Given the description of an element on the screen output the (x, y) to click on. 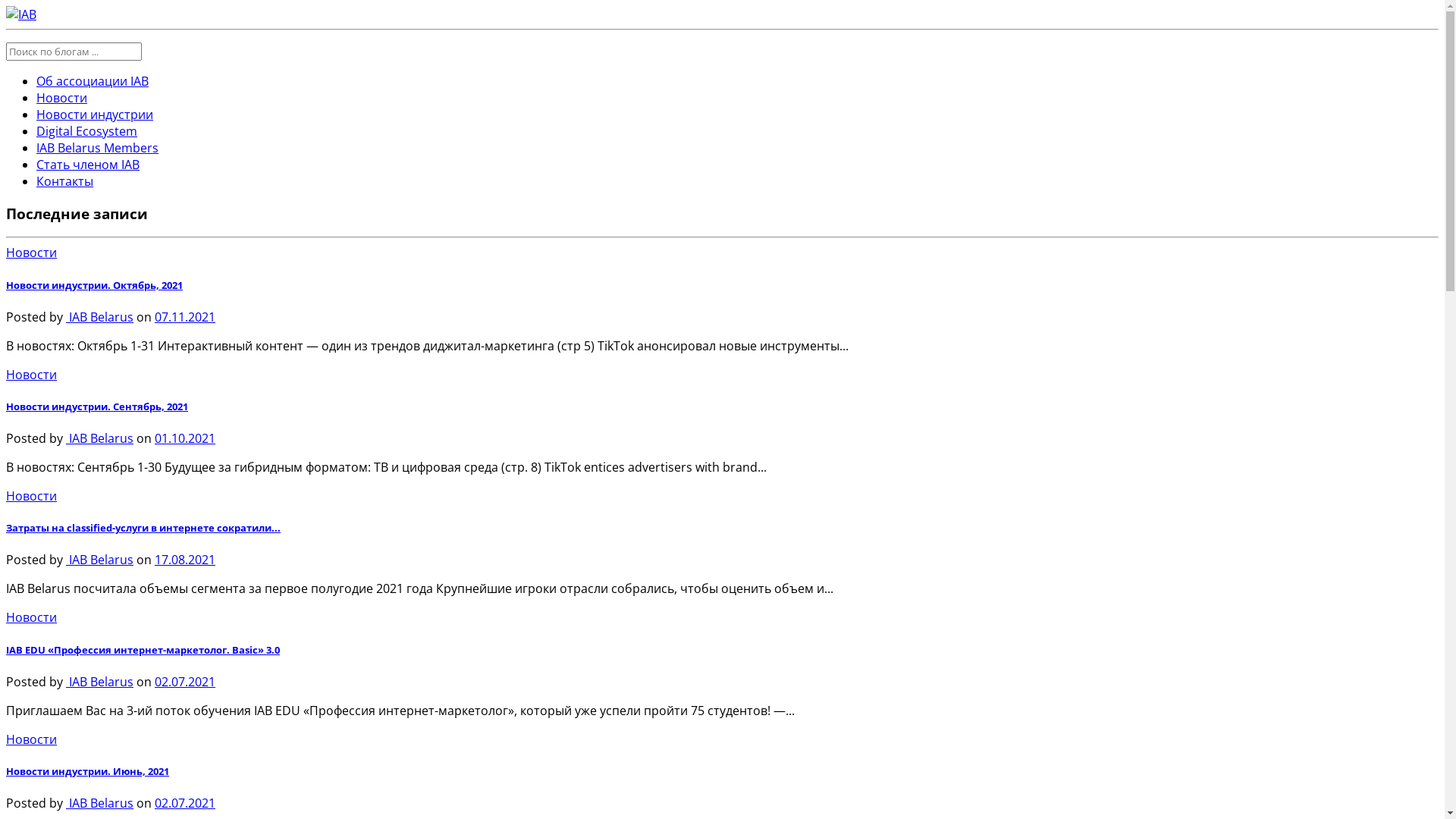
17.08.2021 Element type: text (184, 559)
IAB Belarus Element type: text (99, 681)
07.11.2021 Element type: text (184, 316)
IAB Belarus Element type: text (99, 802)
IAB Belarus Element type: text (99, 559)
IAB Belarus Element type: text (99, 437)
IAB Belarus Members Element type: text (97, 147)
IAB Belarus Element type: text (99, 316)
02.07.2021 Element type: text (184, 802)
Digital Ecosystem Element type: text (86, 130)
01.10.2021 Element type: text (184, 437)
02.07.2021 Element type: text (184, 681)
